Given the description of an element on the screen output the (x, y) to click on. 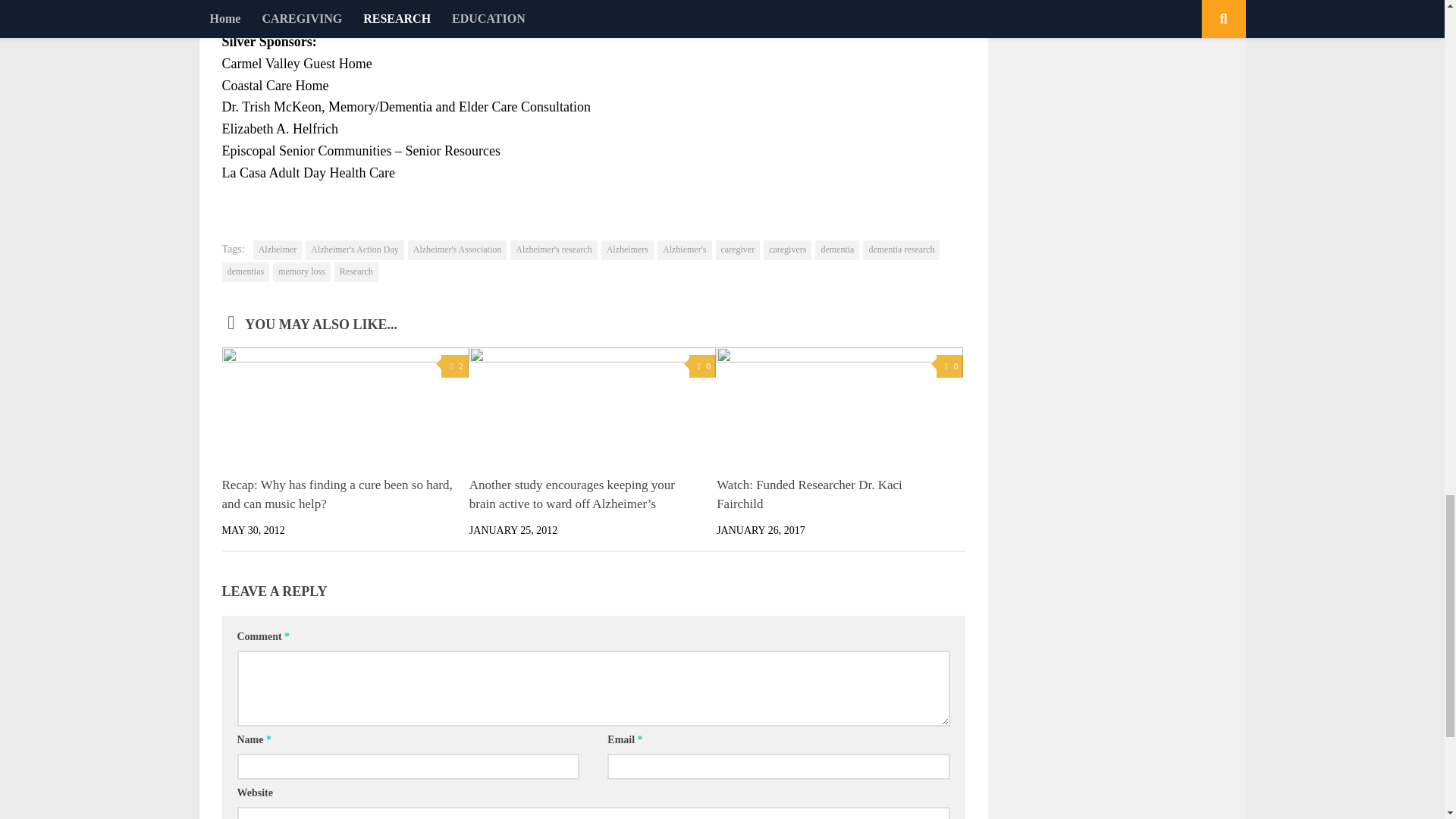
caregivers (786, 250)
Alzheimer's Action Day (354, 250)
Alzheimer's Association (456, 250)
Alzheimer's research (553, 250)
Alzheimer (277, 250)
Alzhiemer's (684, 250)
Alzheimers (627, 250)
dementia (837, 250)
dementia research (901, 250)
caregiver (738, 250)
